Given the description of an element on the screen output the (x, y) to click on. 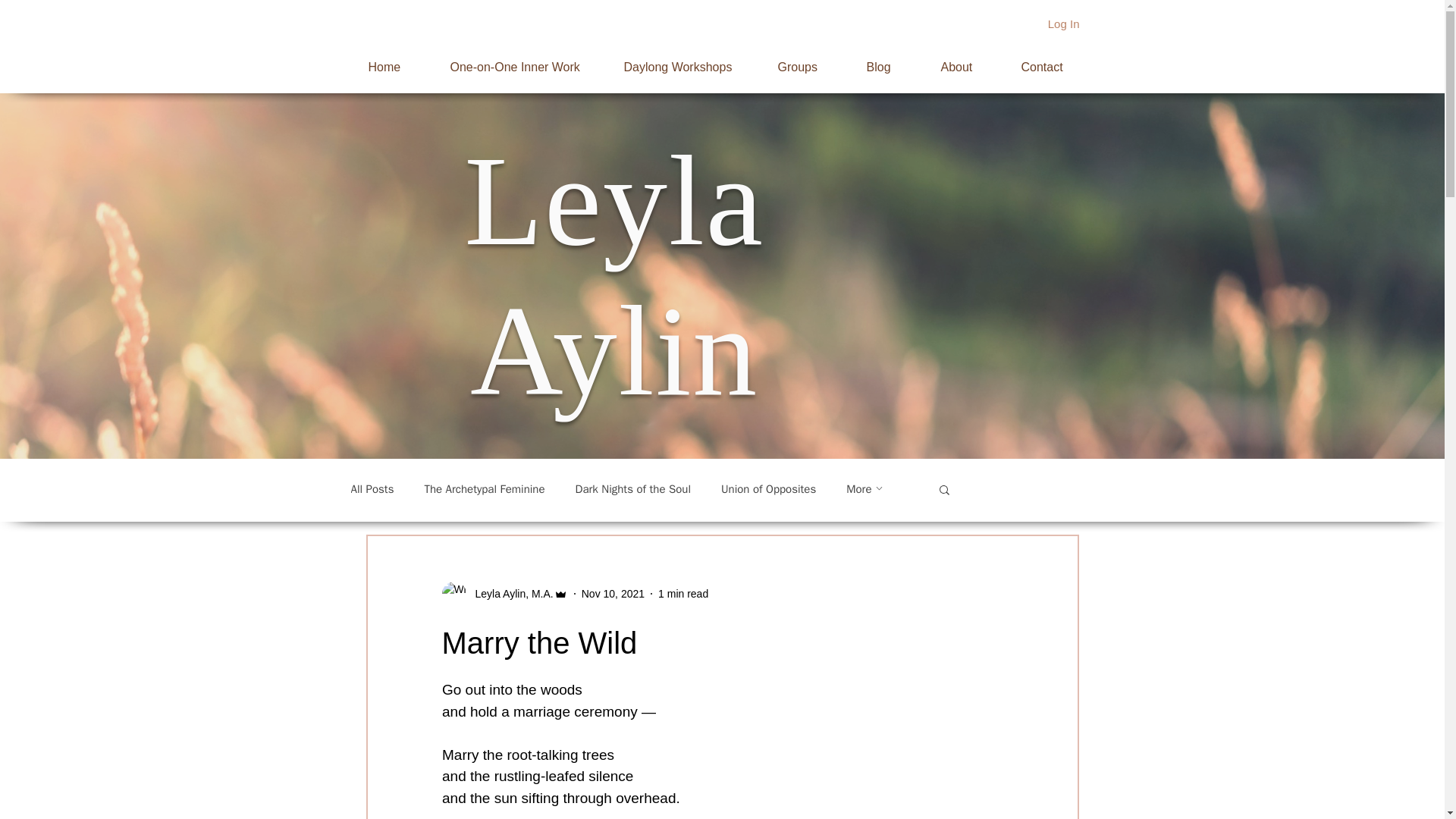
Home (391, 59)
1 min read (682, 592)
The Archetypal Feminine (483, 489)
Leyla Aylin, M.A. (509, 593)
Dark Nights of the Soul (633, 489)
Union of Opposites (767, 489)
Log In (1063, 23)
Leyla Aylin, M.A. (504, 593)
Blog (885, 59)
Nov 10, 2021 (612, 592)
All Posts (371, 489)
Contact (1049, 59)
